Given the description of an element on the screen output the (x, y) to click on. 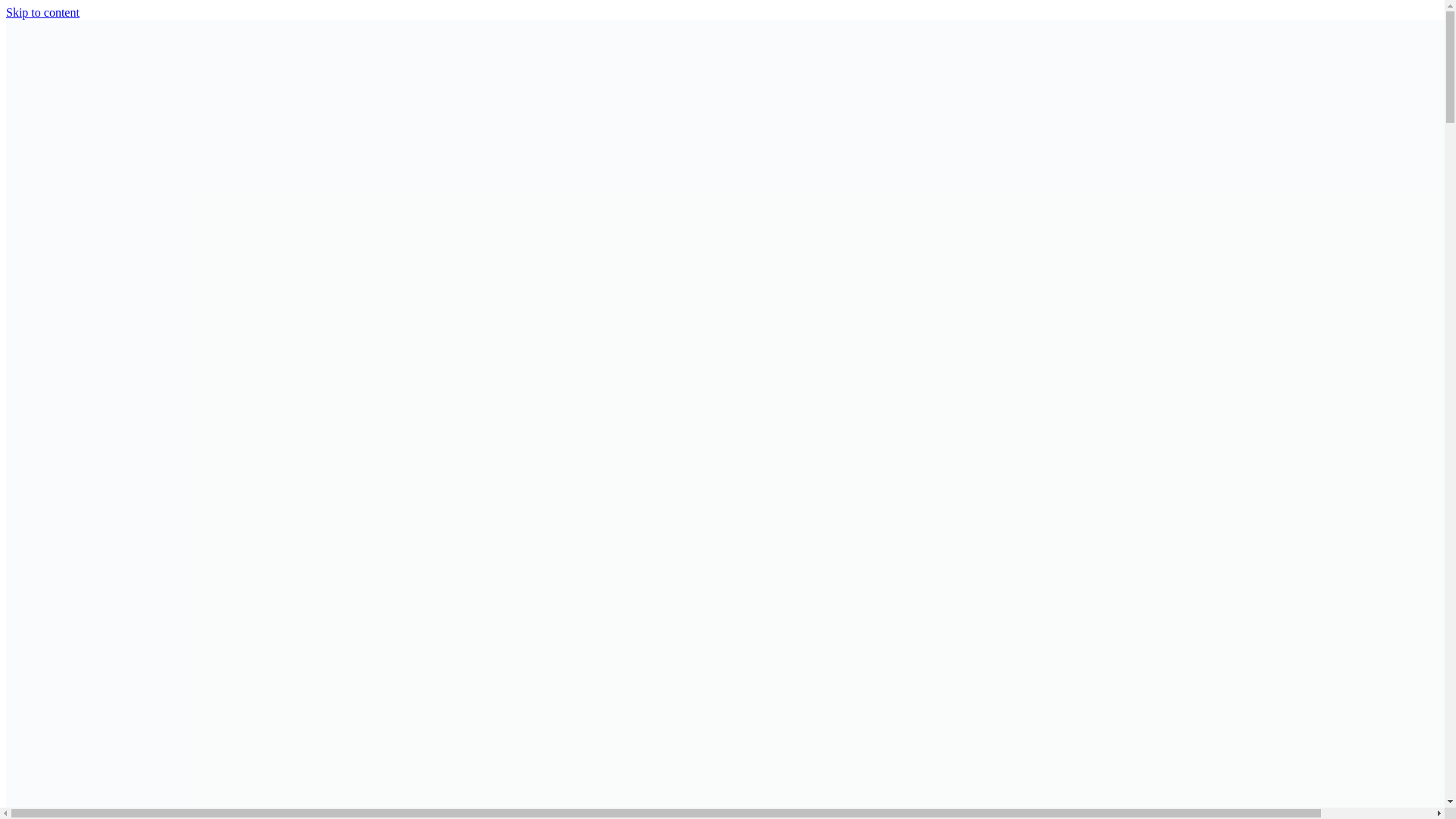
Skip to content (42, 11)
